Given the description of an element on the screen output the (x, y) to click on. 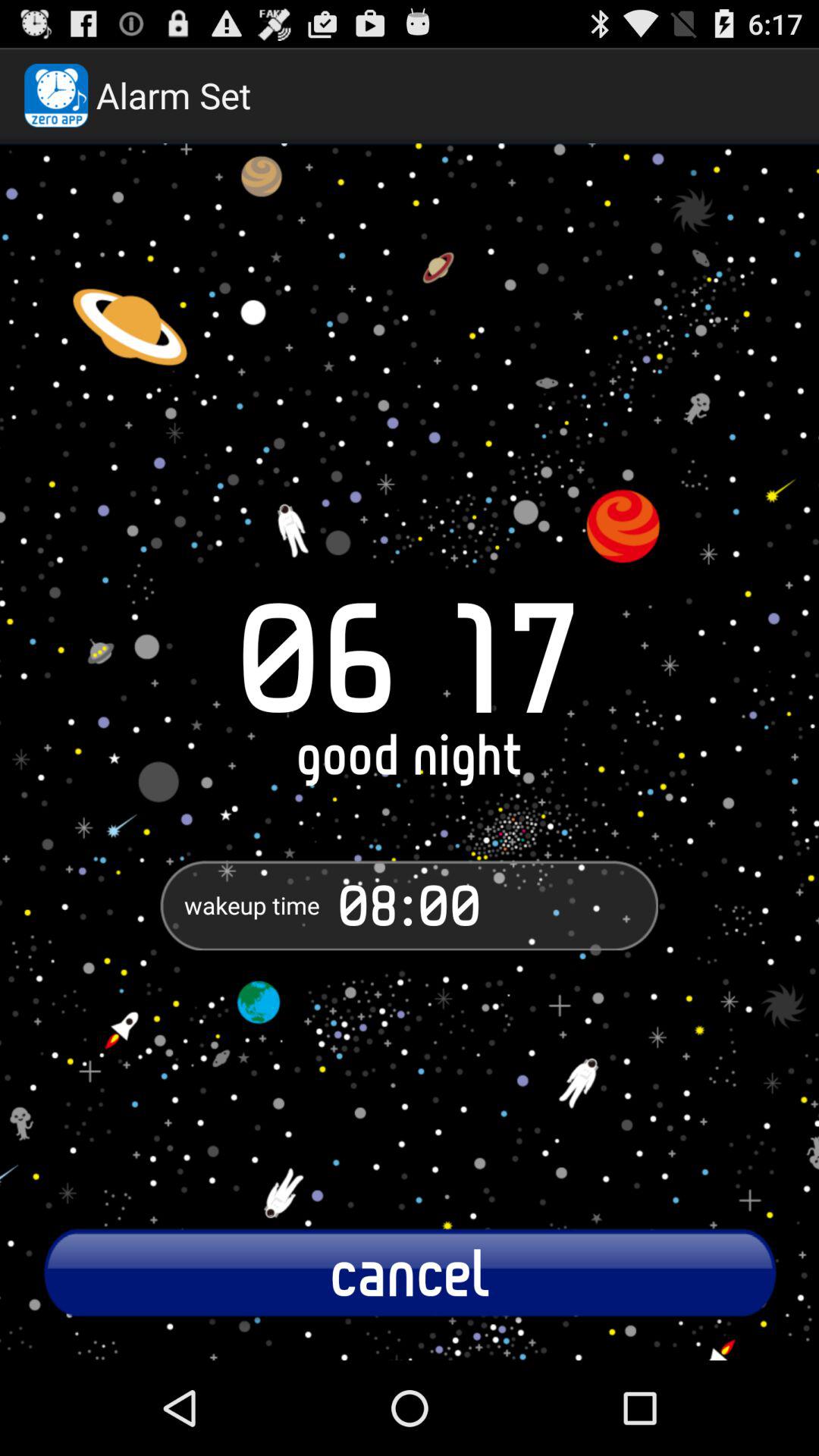
flip until cancel icon (409, 1271)
